Given the description of an element on the screen output the (x, y) to click on. 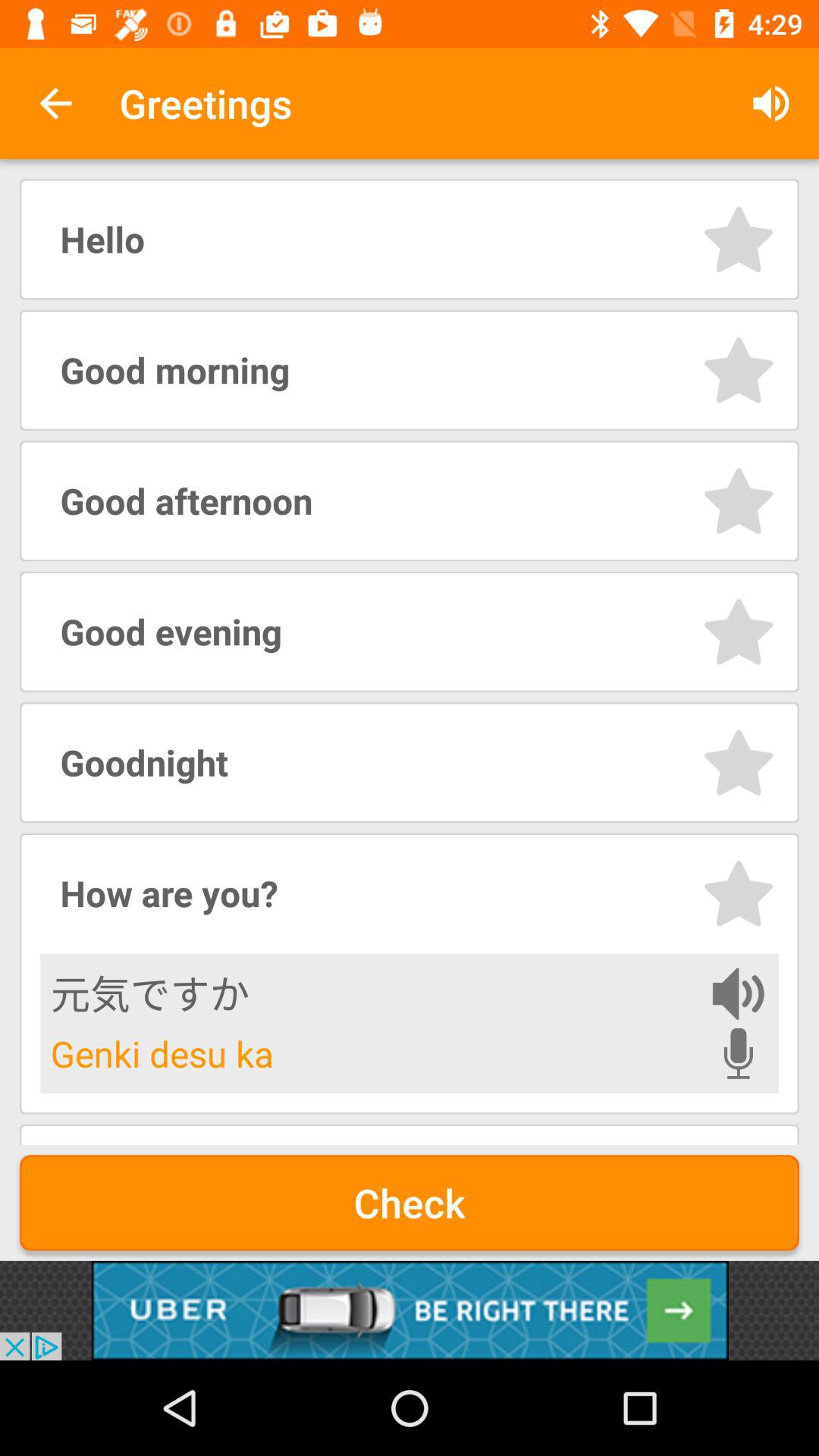
add star (738, 762)
